Given the description of an element on the screen output the (x, y) to click on. 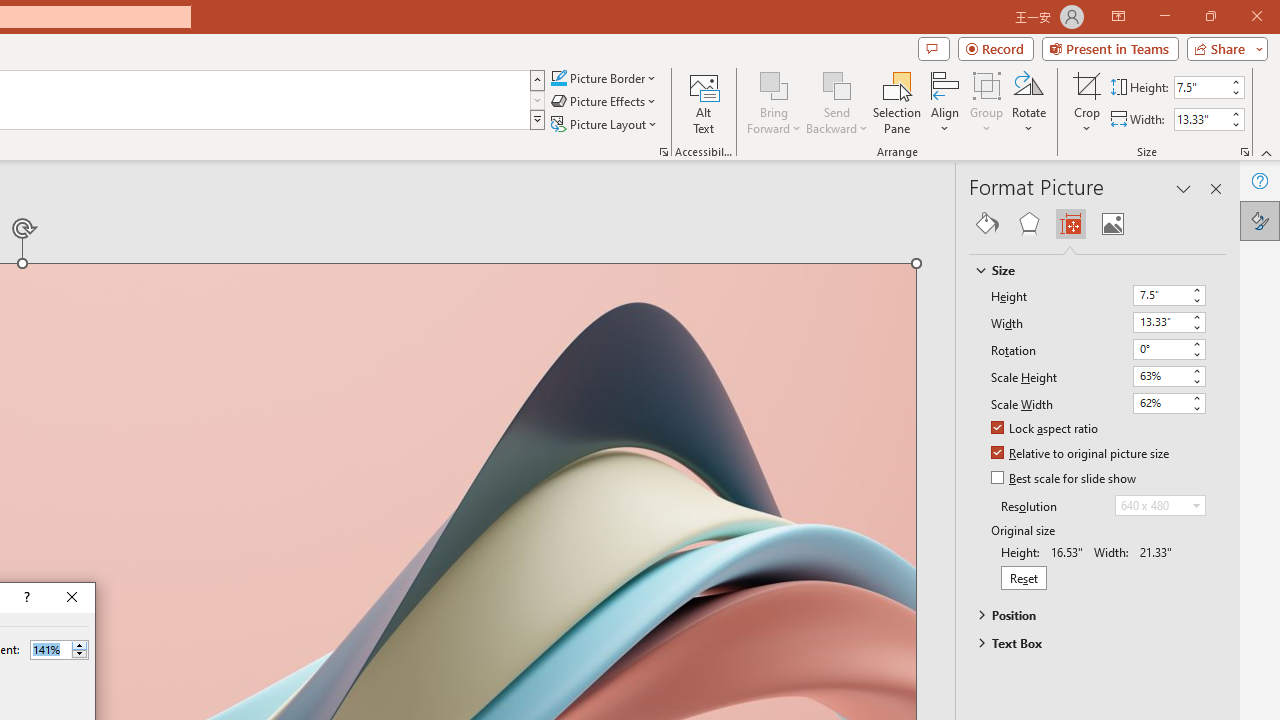
Height (1160, 294)
Format Picture (1260, 220)
Picture... (663, 151)
Crop (1087, 84)
Align (945, 102)
Class: NetUIGalleryContainer (1098, 223)
Fill & Line (987, 223)
Resolution (1159, 505)
Percent (59, 650)
Rotate (1028, 102)
